Given the description of an element on the screen output the (x, y) to click on. 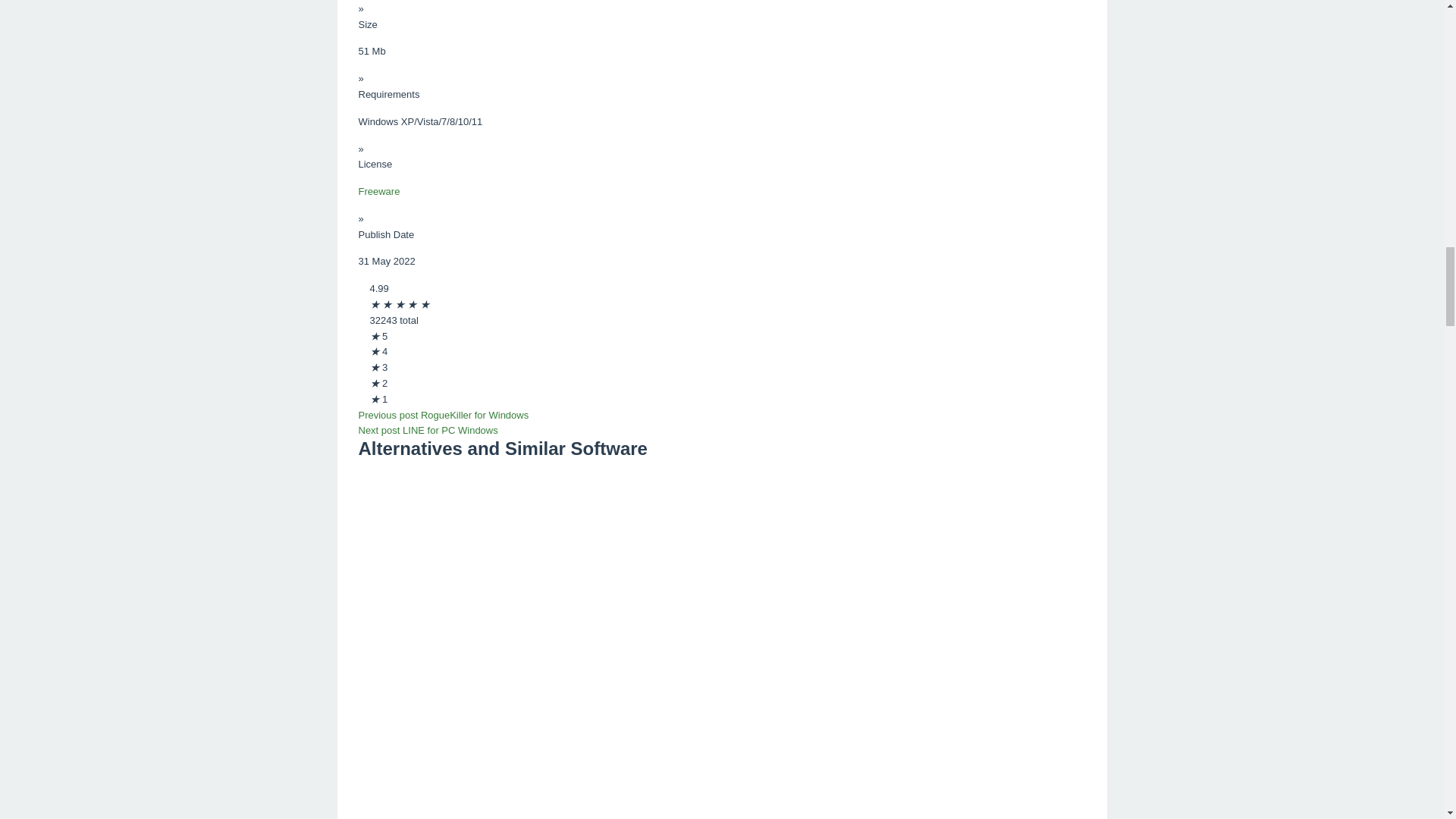
Previous post RogueKiller for Windows (443, 414)
Freeware (378, 191)
Next post LINE for PC Windows (427, 430)
